Given the description of an element on the screen output the (x, y) to click on. 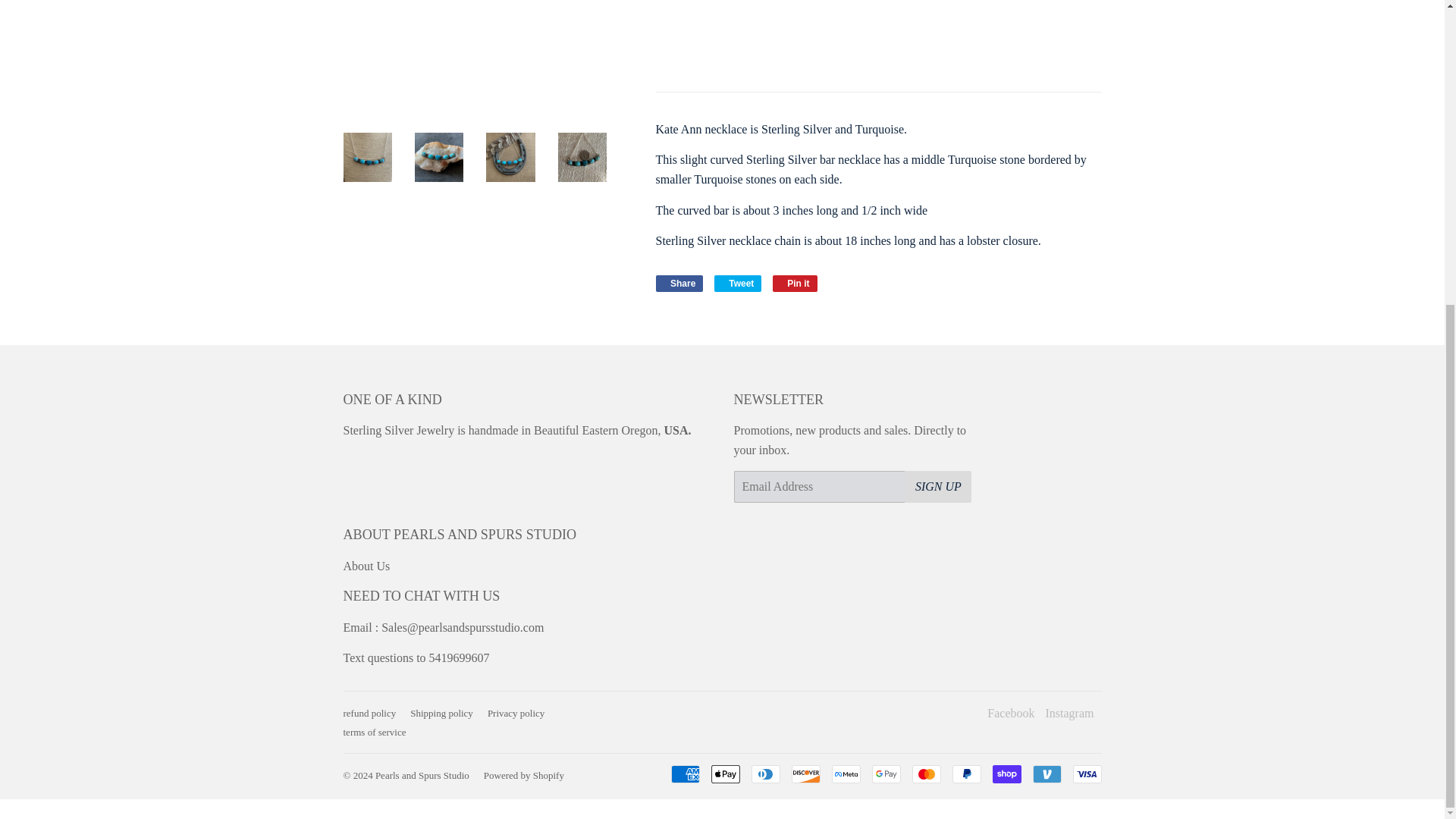
Google Pay (886, 773)
Pearls and Spurs Studio on Instagram (737, 283)
PayPal (1069, 712)
Venmo (966, 773)
Shipping policy (1046, 773)
Facebook (441, 713)
Pearls and Spurs Studio on Facebook (1010, 712)
SIGN UP (679, 283)
Mastercard (1010, 712)
Pearls and Spurs Studio (938, 486)
Instagram (925, 773)
Powered by Shopify (421, 775)
Apple Pay (1069, 712)
